Given the description of an element on the screen output the (x, y) to click on. 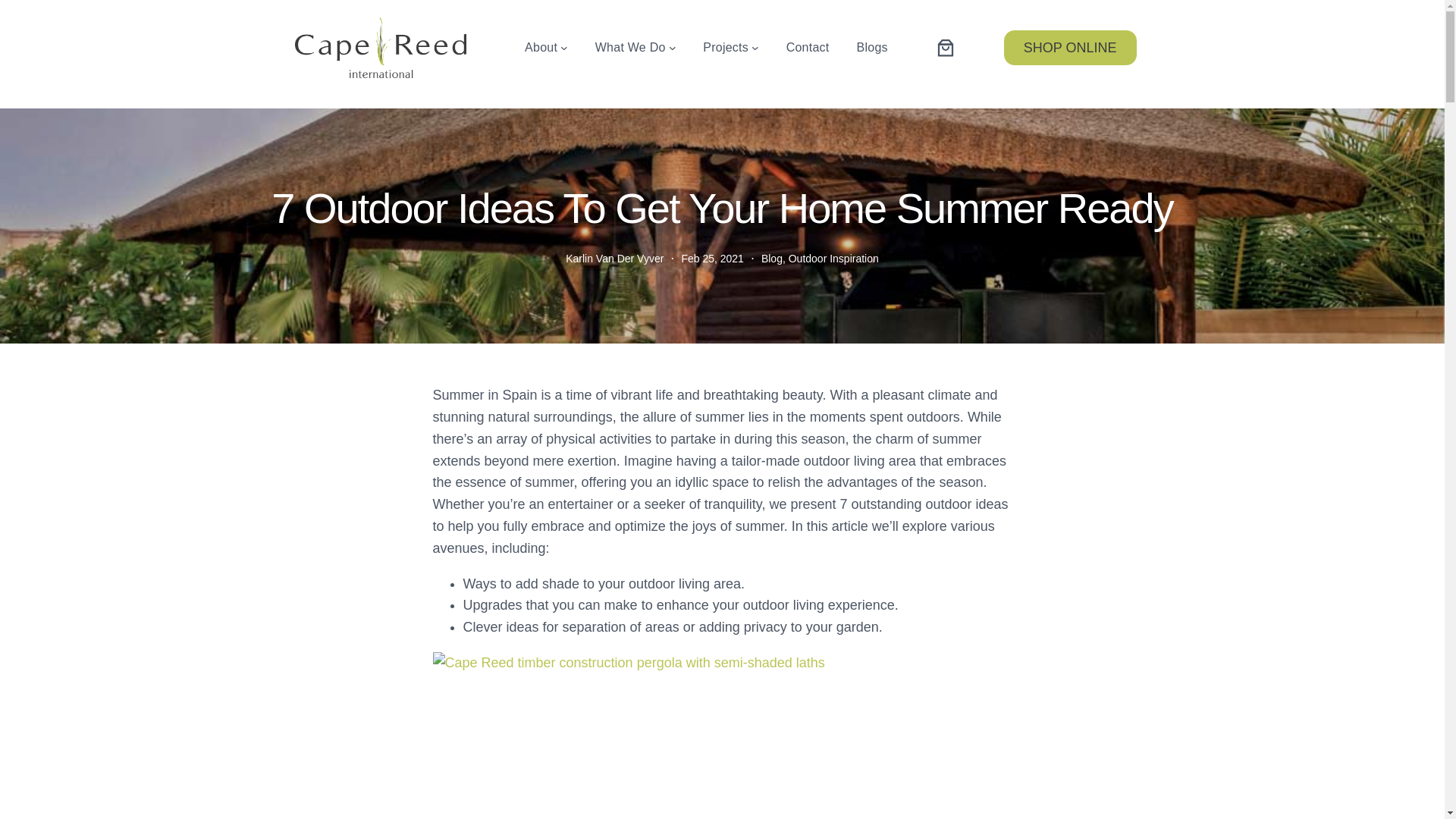
Outdoor Inspiration (834, 258)
Contact (807, 46)
What We Do (630, 46)
Projects (725, 46)
SHOP ONLINE (1070, 47)
About (540, 46)
Blog (772, 258)
Blogs (872, 46)
